Given the description of an element on the screen output the (x, y) to click on. 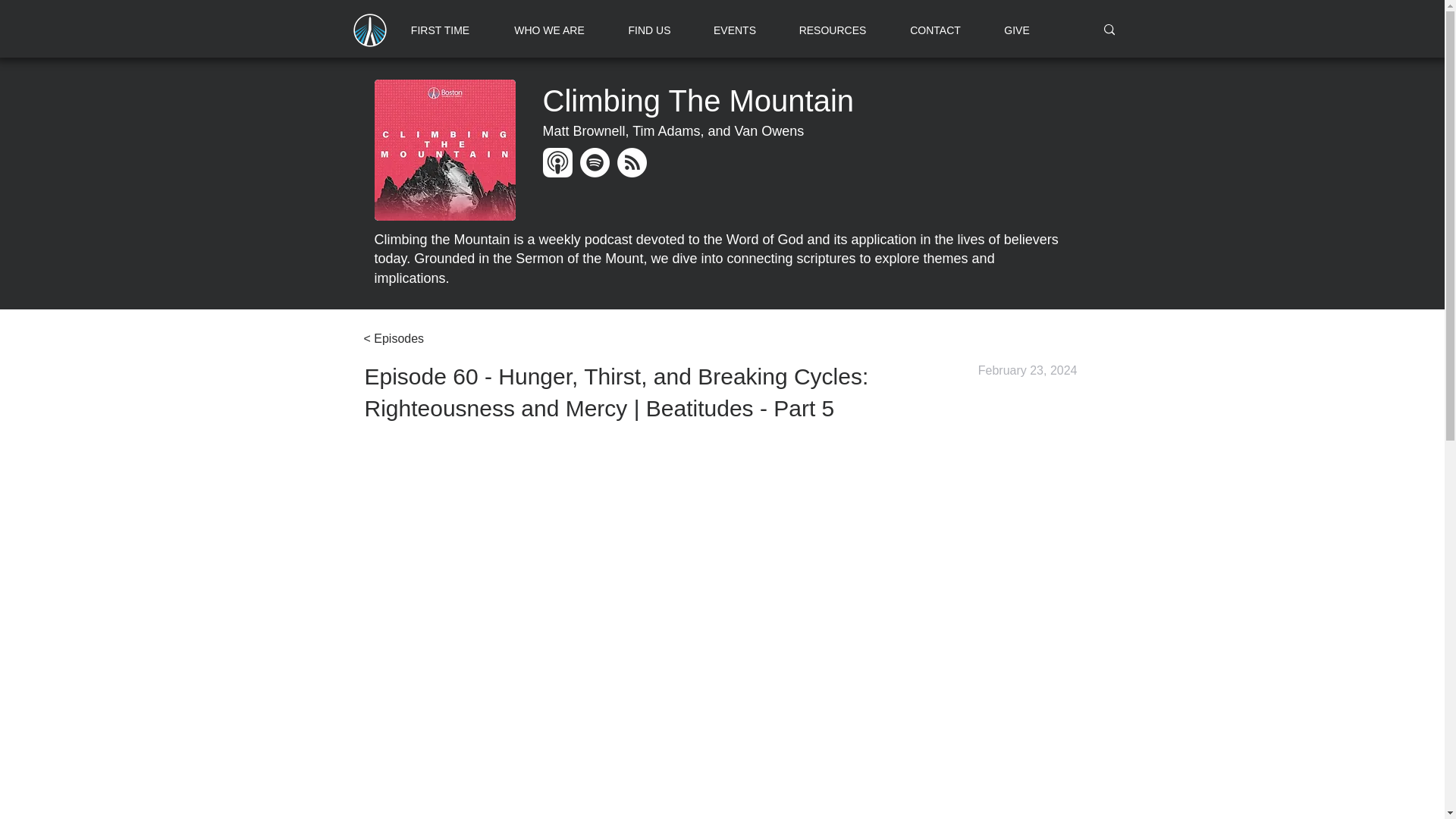
EVENTS (734, 30)
CONTACT (934, 30)
GIVE (1015, 30)
